Given the description of an element on the screen output the (x, y) to click on. 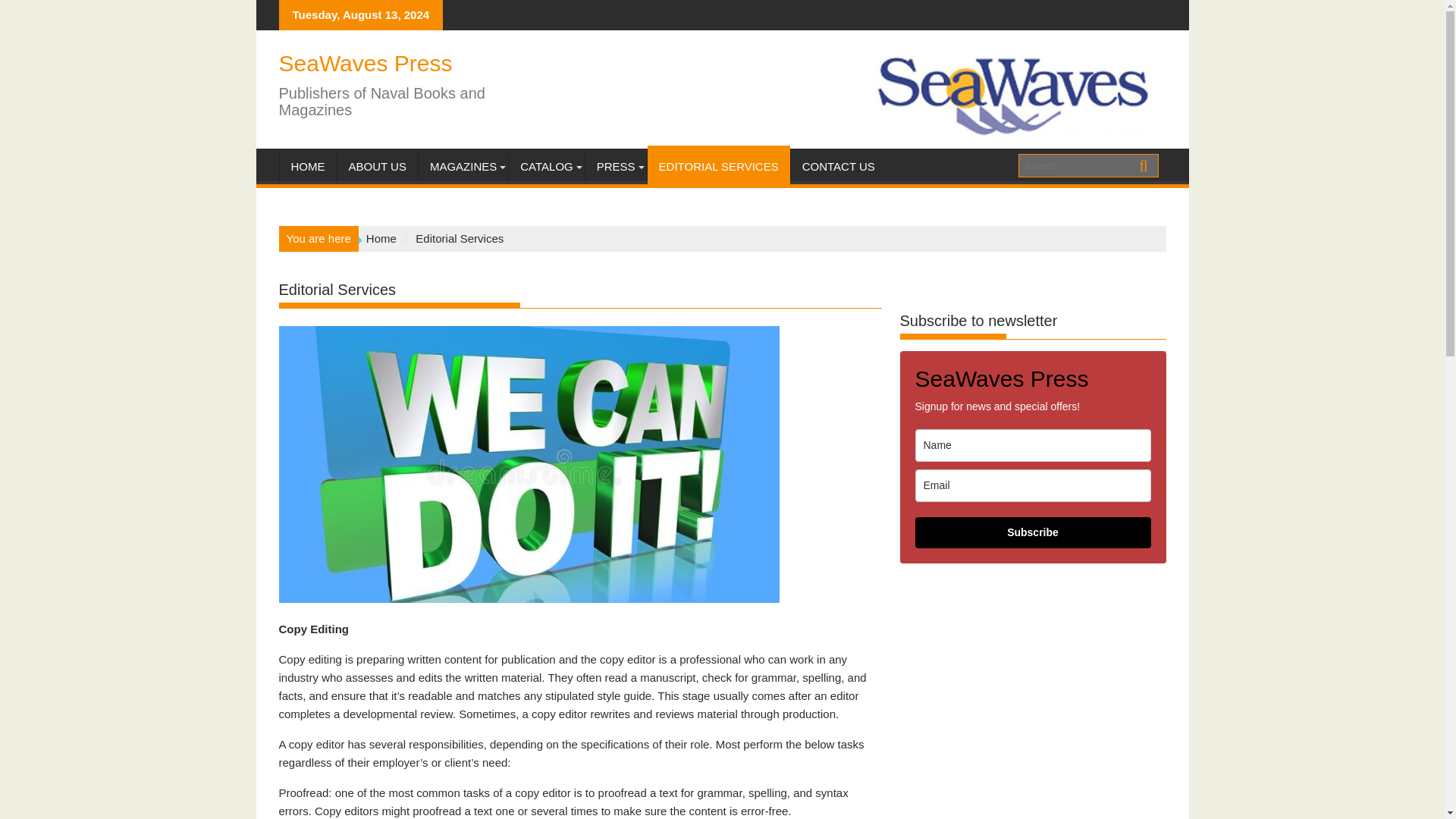
EDITORIAL SERVICES (718, 166)
MAGAZINES (463, 166)
SeaWaves Press (365, 63)
HOME (307, 166)
CONTACT US (838, 166)
CATALOG (545, 166)
PRESS (615, 166)
ABOUT US (376, 166)
